Given the description of an element on the screen output the (x, y) to click on. 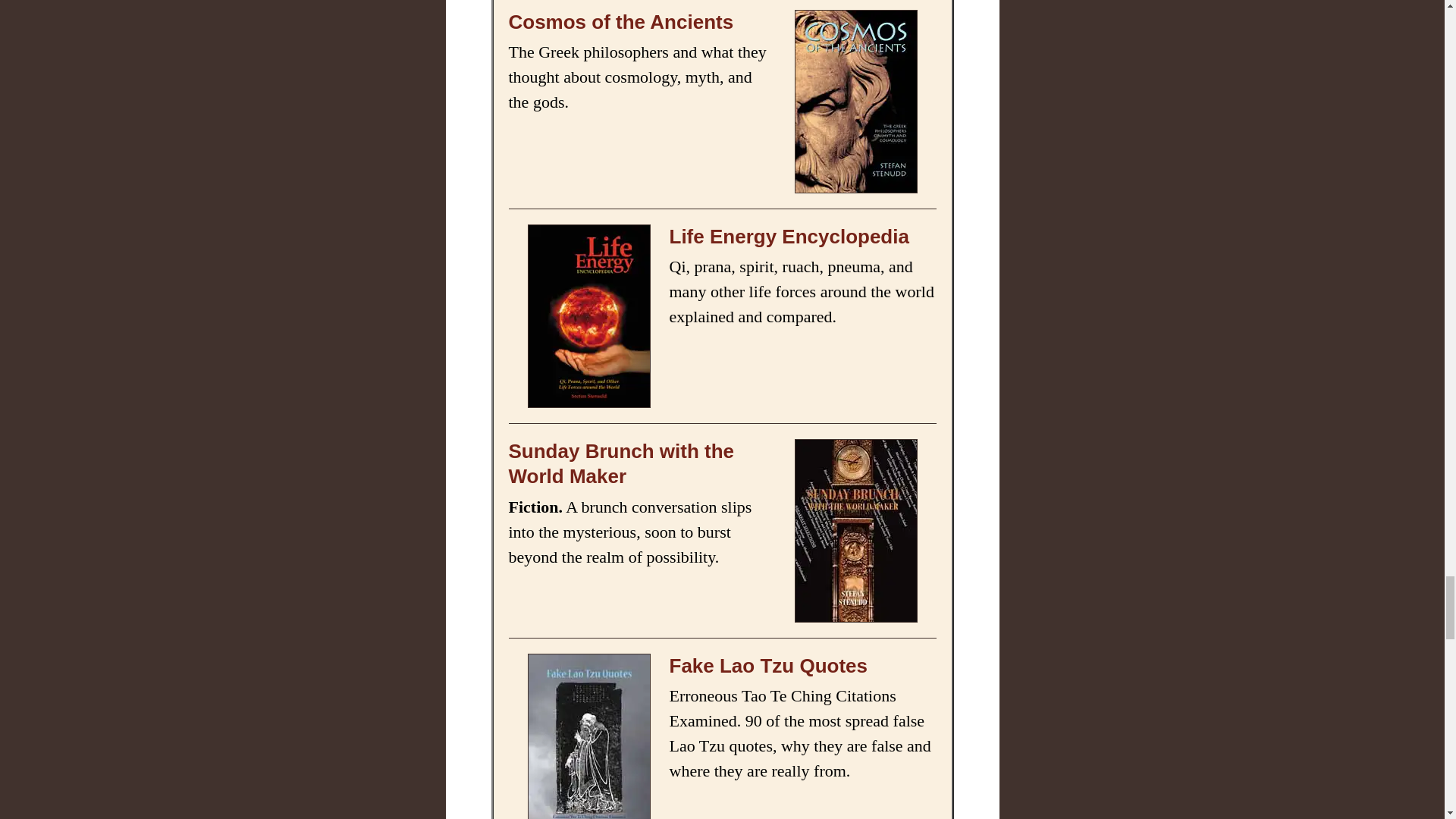
Life Energy Encyclopedia (788, 236)
Cosmos of the Ancients (620, 21)
Fake Lao Tzu Quotes (767, 665)
Sunday Brunch with the World Maker (620, 463)
